Given the description of an element on the screen output the (x, y) to click on. 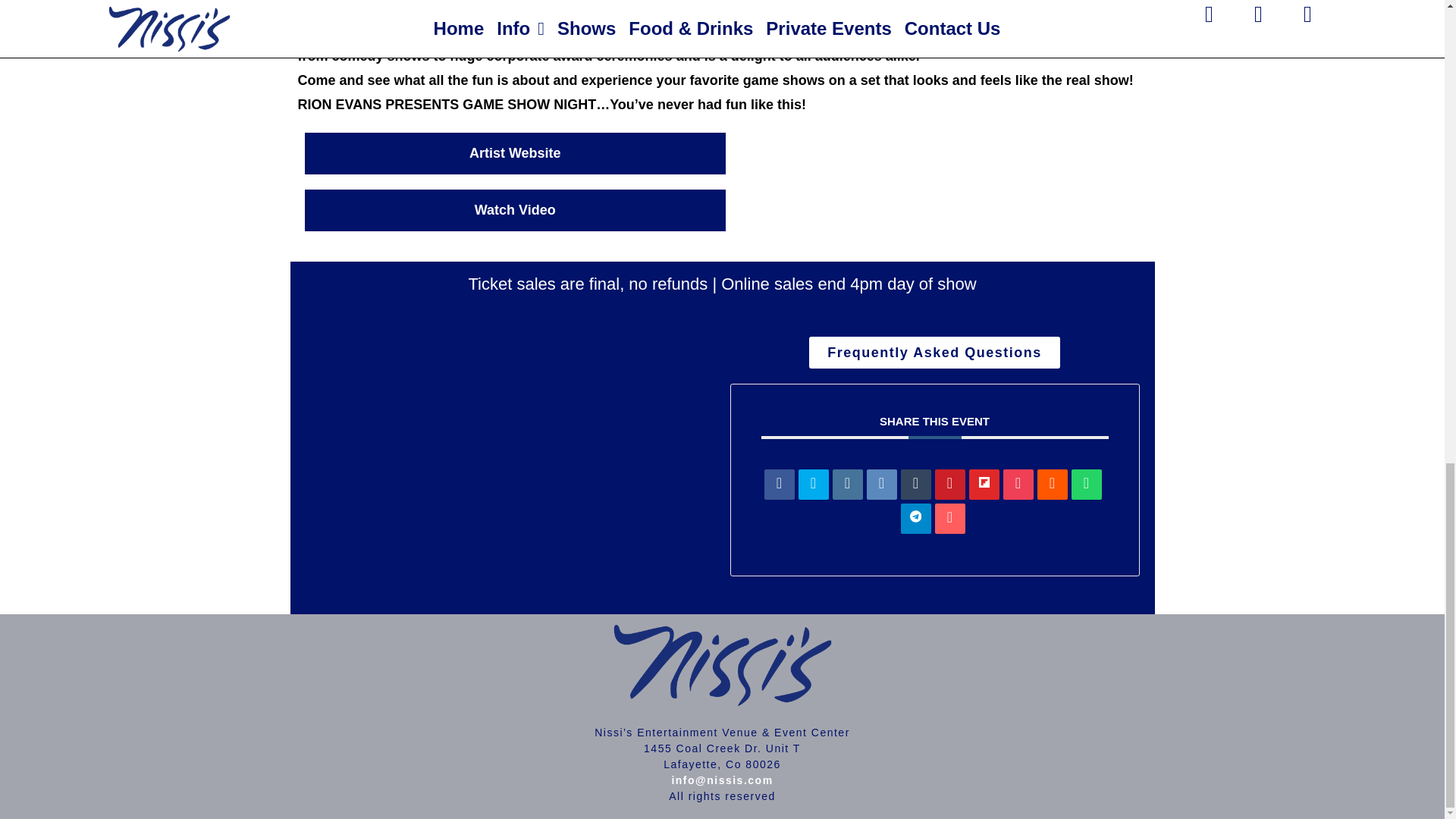
Email (948, 518)
Share on Reddit (1051, 484)
Nissi's entertainment (509, 467)
Share on Flipboard (983, 484)
VK (881, 484)
Share on GetPocket (1017, 484)
Share on Telegram (916, 518)
nissis logo png no background nissis entertainment events (721, 663)
Share on WhatsApp (1085, 484)
Share on Tumblr (916, 484)
Share on Pinterest (948, 484)
Linkedin (847, 484)
Share on Facebook (779, 484)
Tweet (812, 484)
